Given the description of an element on the screen output the (x, y) to click on. 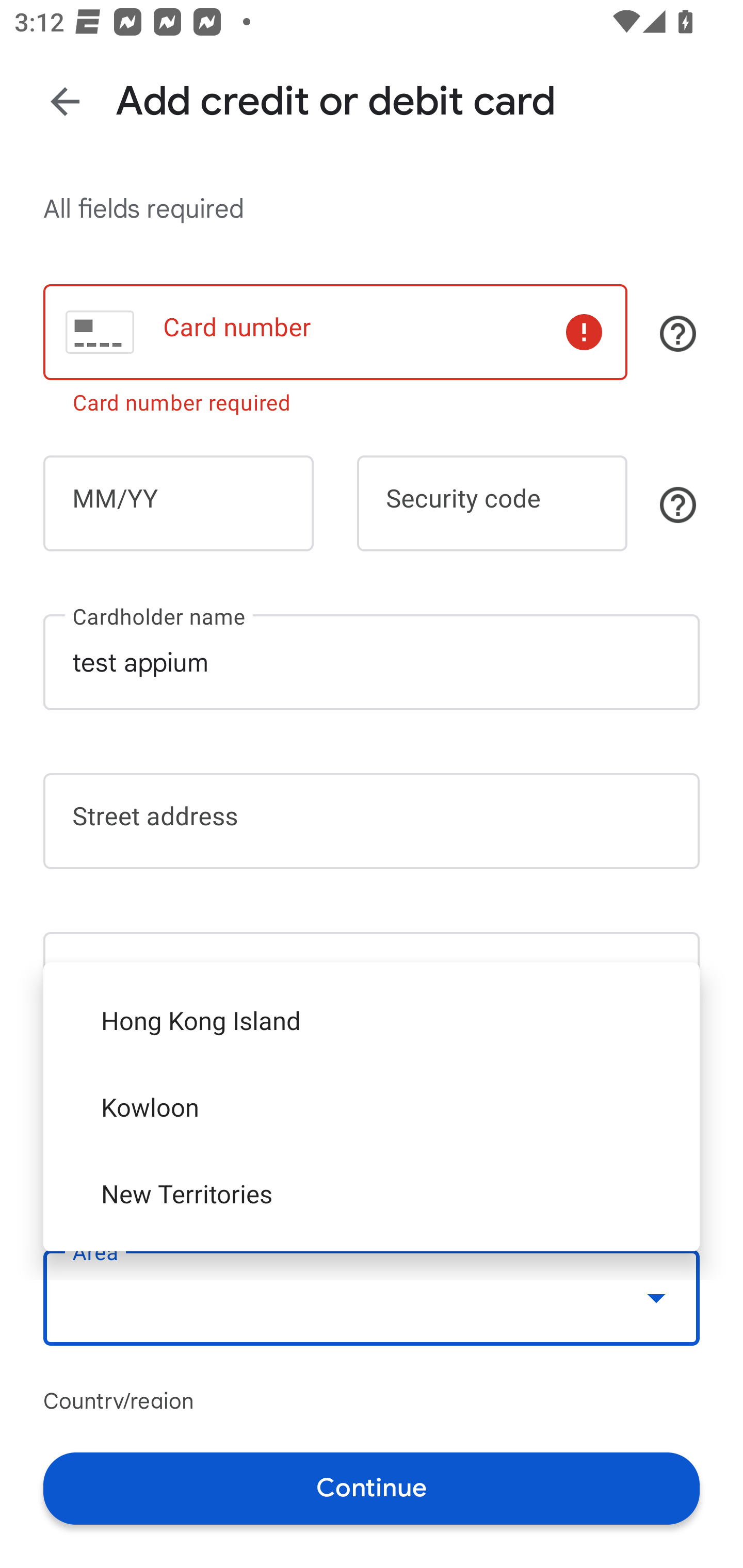
Back (64, 101)
Card number (335, 331)
Button, shows cards that are accepted for payment (677, 333)
Expiration date, 2 digit month, 2 digit year (178, 502)
Security code (492, 502)
Security code help (677, 504)
test appium (371, 662)
Street address (371, 820)
Area (371, 1297)
Show dropdown menu (655, 1297)
Continue (371, 1487)
